Given the description of an element on the screen output the (x, y) to click on. 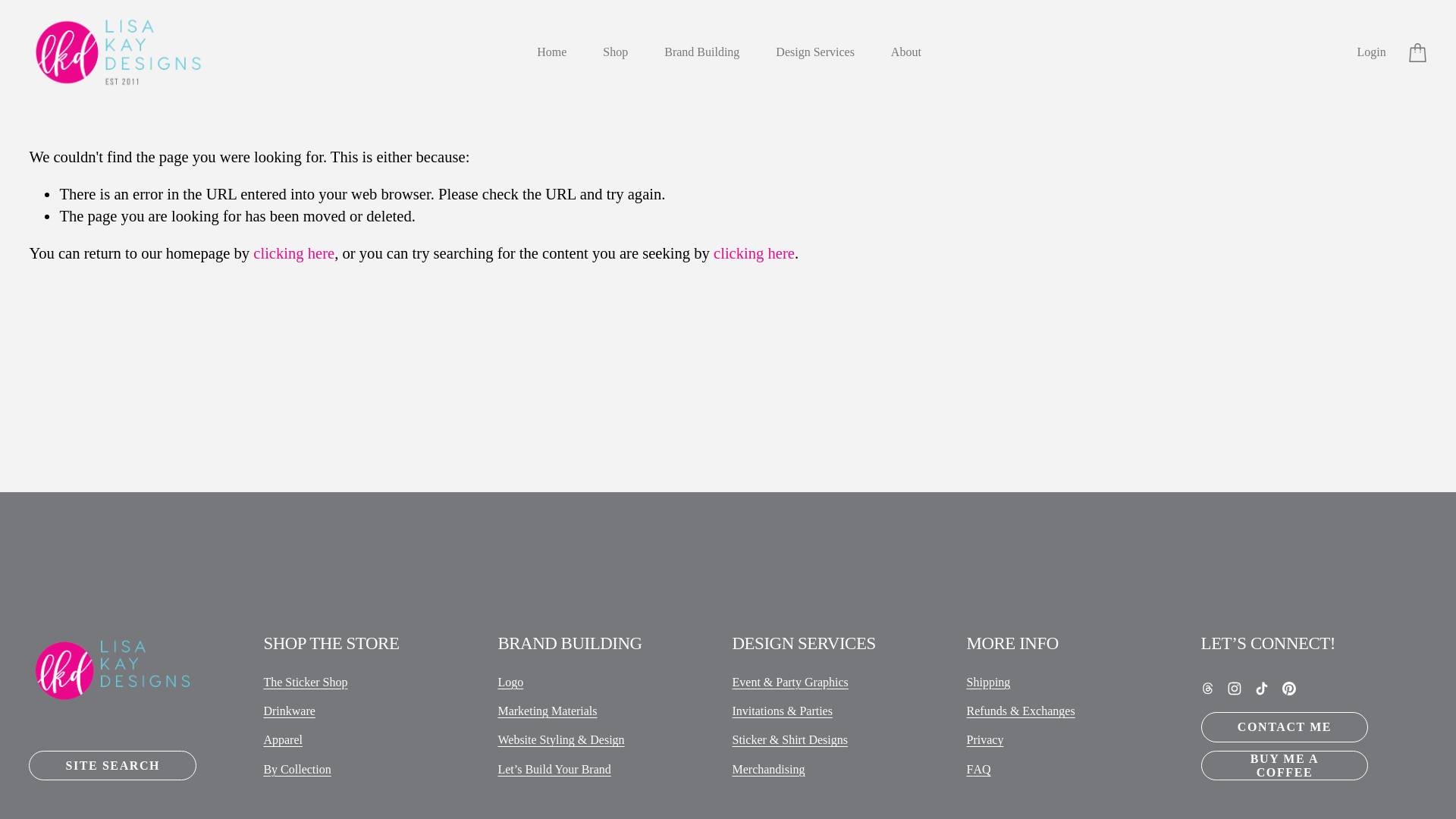
Home (551, 52)
clicking here (753, 252)
Login (1371, 52)
SITE SEARCH (112, 766)
About (906, 52)
clicking here (293, 252)
Design Services (815, 52)
Shop (614, 52)
Brand Building (701, 52)
